Given the description of an element on the screen output the (x, y) to click on. 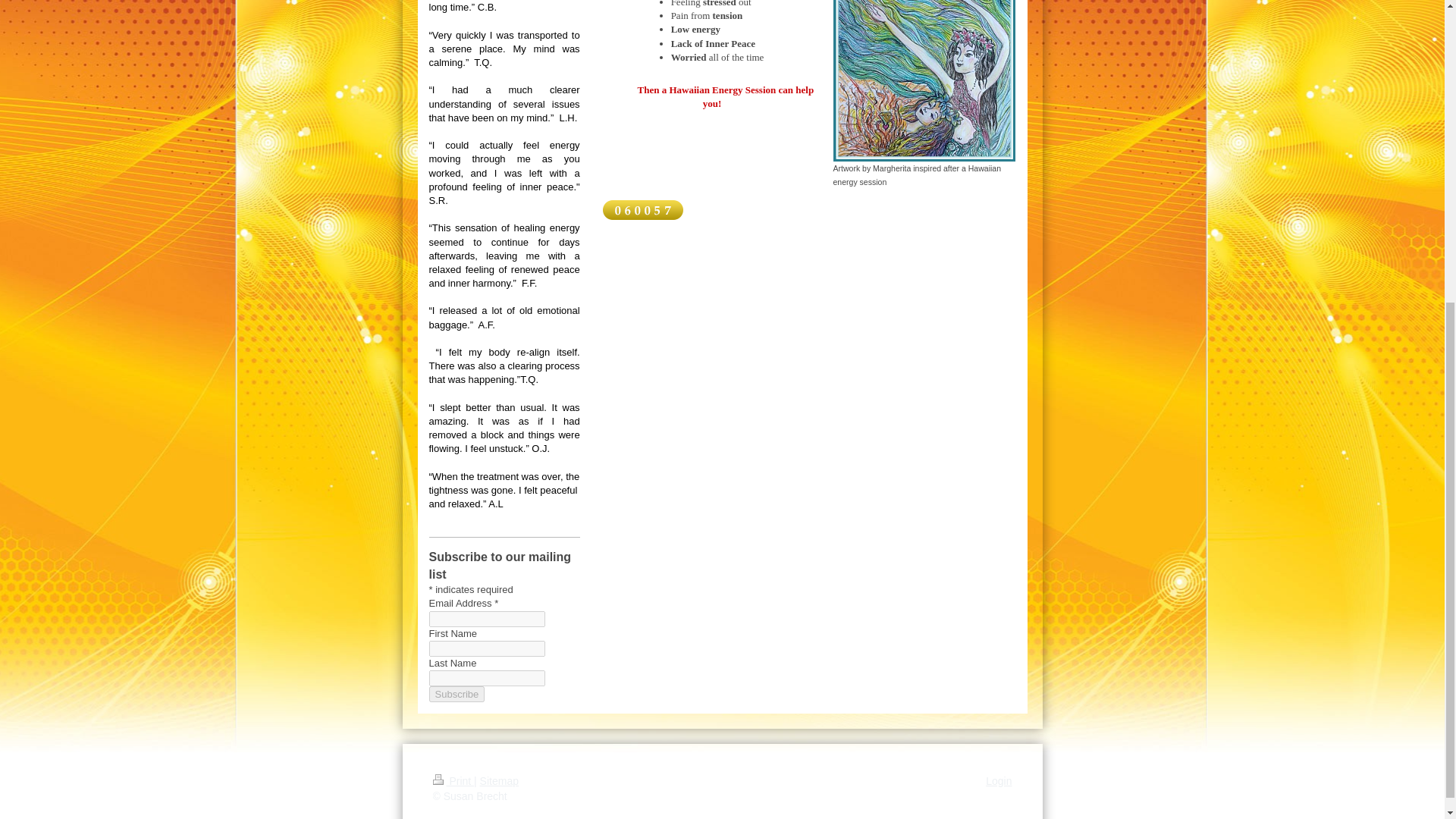
Sitemap (499, 780)
Subscribe (456, 693)
Login (998, 780)
Print (453, 780)
Subscribe (456, 693)
